Given the description of an element on the screen output the (x, y) to click on. 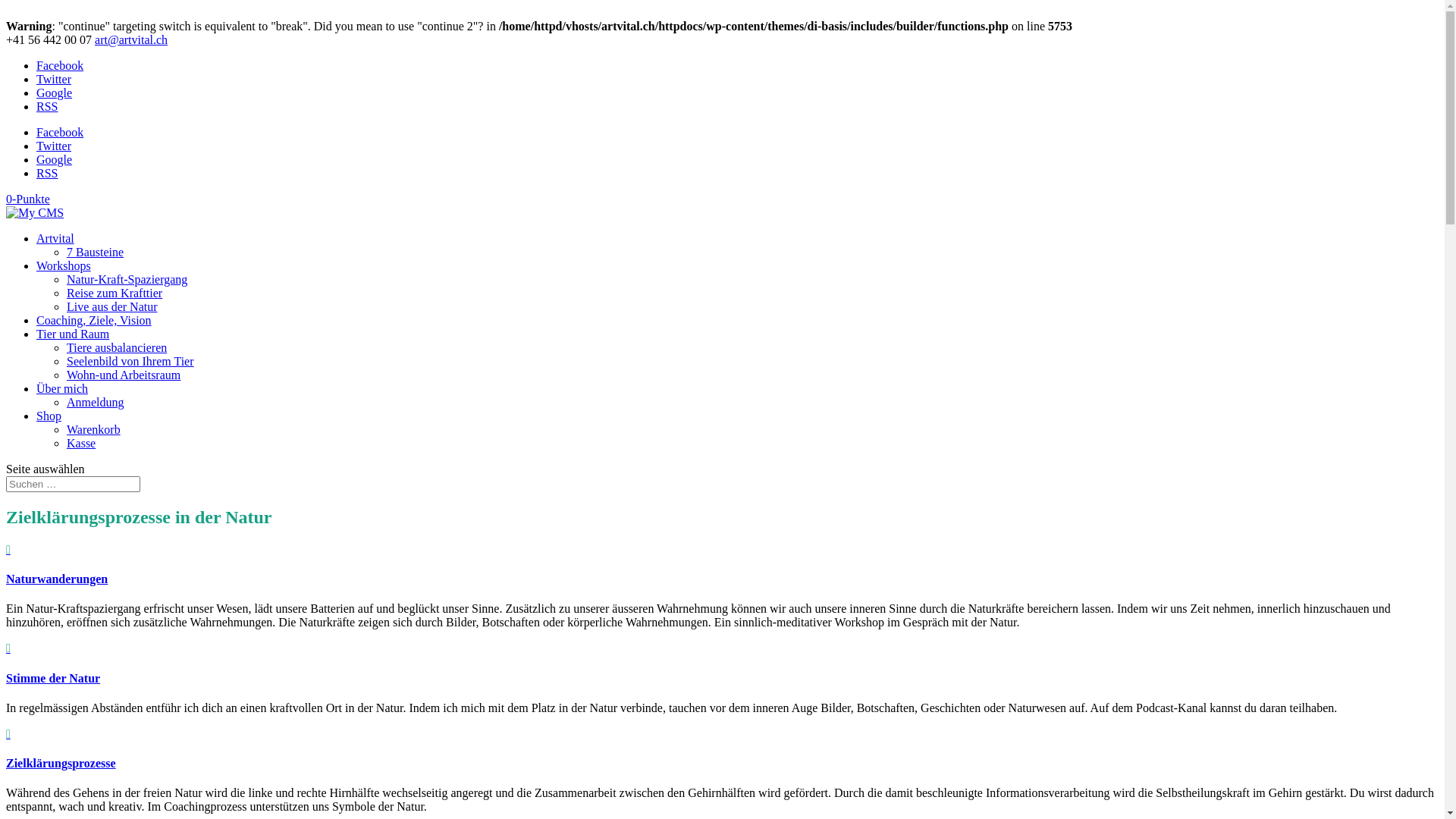
Twitter Element type: text (53, 145)
Warenkorb Element type: text (93, 429)
art@artvital.ch Element type: text (130, 39)
Suchen nach: Element type: hover (73, 484)
RSS Element type: text (46, 106)
Twitter Element type: text (53, 78)
Google Element type: text (54, 159)
Naturwanderungen Element type: text (56, 578)
Stimme der Natur Element type: text (53, 677)
Google Element type: text (54, 92)
Wohn-und Arbeitsraum Element type: text (123, 374)
Facebook Element type: text (59, 65)
Anmeldung Element type: text (95, 401)
RSS Element type: text (46, 172)
Kasse Element type: text (80, 442)
Reise zum Krafttier Element type: text (114, 292)
Tiere ausbalancieren Element type: text (116, 347)
Natur-Kraft-Spaziergang Element type: text (126, 279)
Tier und Raum Element type: text (72, 333)
Seelenbild von Ihrem Tier Element type: text (130, 360)
Workshops Element type: text (63, 265)
Artvital Element type: text (55, 238)
0-Punkte Element type: text (28, 198)
Shop Element type: text (48, 415)
Coaching, Ziele, Vision Element type: text (93, 319)
Facebook Element type: text (59, 131)
Live aus der Natur Element type: text (111, 306)
7 Bausteine Element type: text (94, 251)
